Given the description of an element on the screen output the (x, y) to click on. 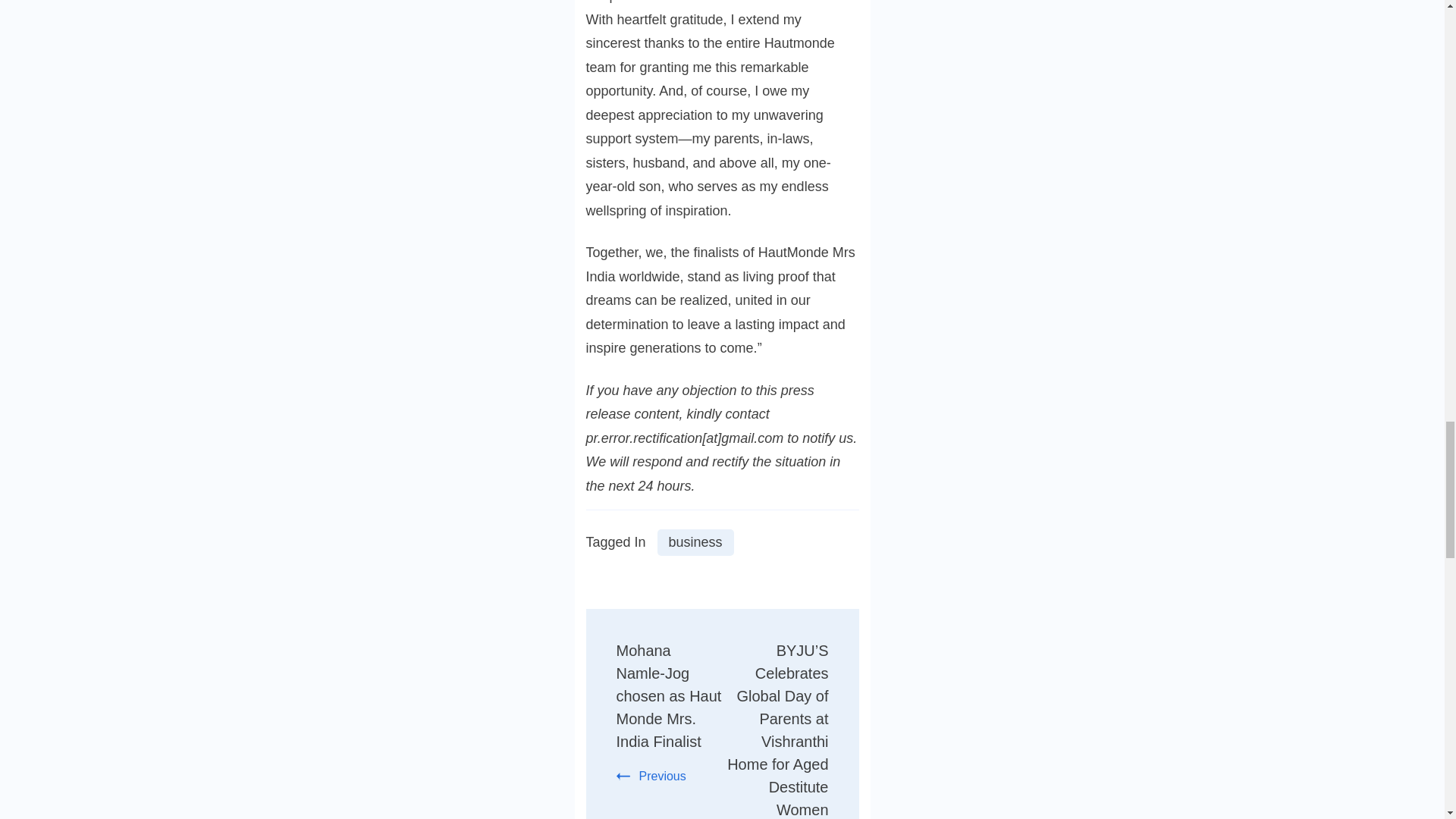
business (695, 542)
Mohana Namle-Jog chosen as Haut Monde Mrs. India Finalist (667, 696)
Previous (650, 775)
